Given the description of an element on the screen output the (x, y) to click on. 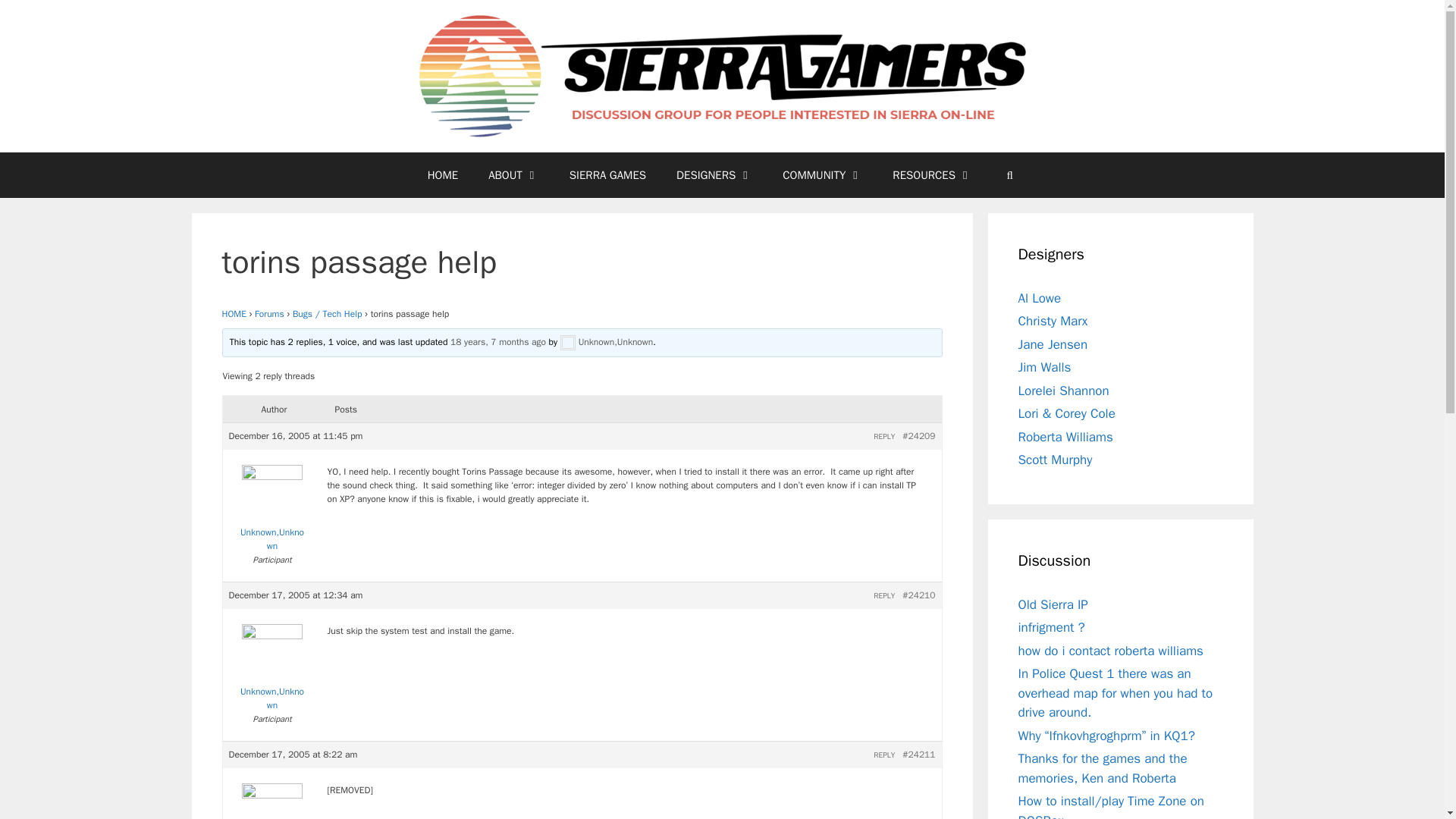
REPLY (884, 436)
DESIGNERS (714, 175)
SIERRA GAMES (607, 175)
View Unknown,Unknown's profile (271, 511)
Unknown,Unknown (606, 341)
RESOURCES (932, 175)
View Unknown,Unknown's profile (271, 804)
COMMUNITY (822, 175)
18 years, 7 months ago (497, 341)
HOME (442, 175)
Forums (268, 313)
View Unknown,Unknown's profile (271, 670)
Unknown,Unknown (271, 511)
HOME (233, 313)
ABOUT (513, 175)
